Given the description of an element on the screen output the (x, y) to click on. 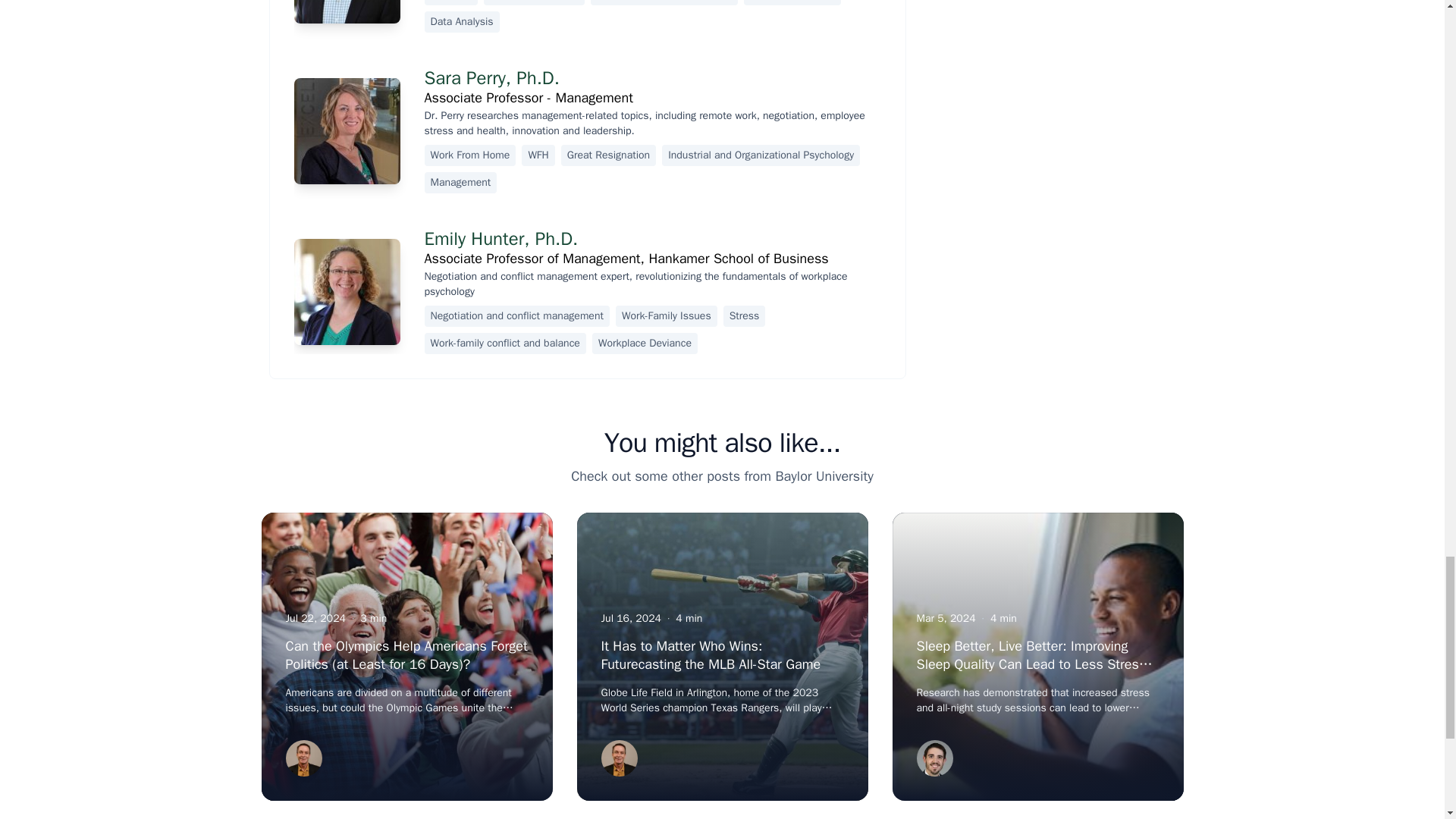
Sara Perry, Ph.D. (492, 77)
Emily Hunter, Ph.D. (501, 238)
